Given the description of an element on the screen output the (x, y) to click on. 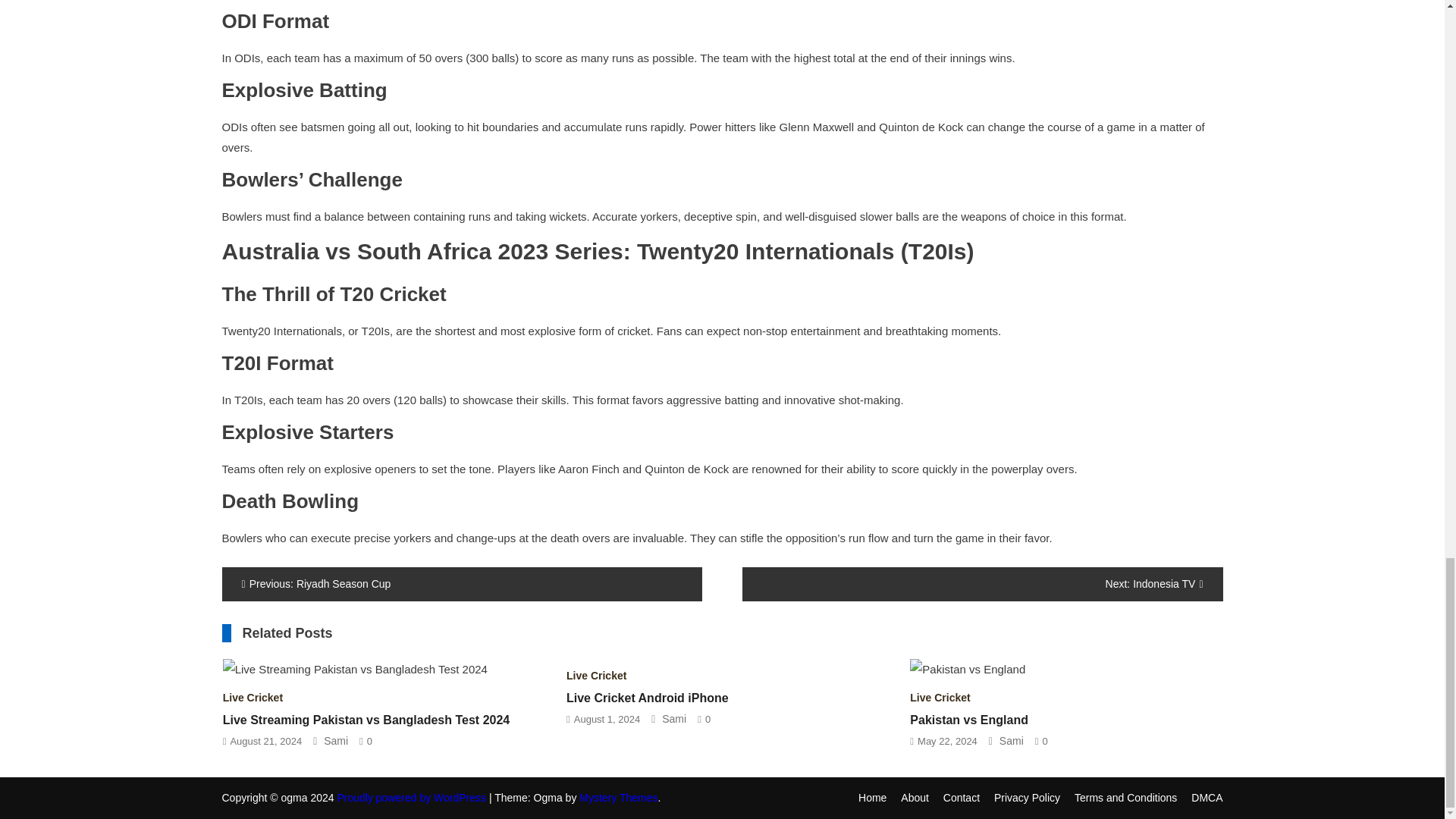
Live Cricket (252, 697)
Live Cricket (939, 697)
Sami (1010, 740)
Next: Indonesia TV (982, 584)
Live Streaming Pakistan vs Bangladesh Test 2024 (366, 719)
May 22, 2024 (946, 740)
Sami (335, 740)
Sami (673, 718)
August 21, 2024 (265, 740)
August 1, 2024 (606, 718)
